Given the description of an element on the screen output the (x, y) to click on. 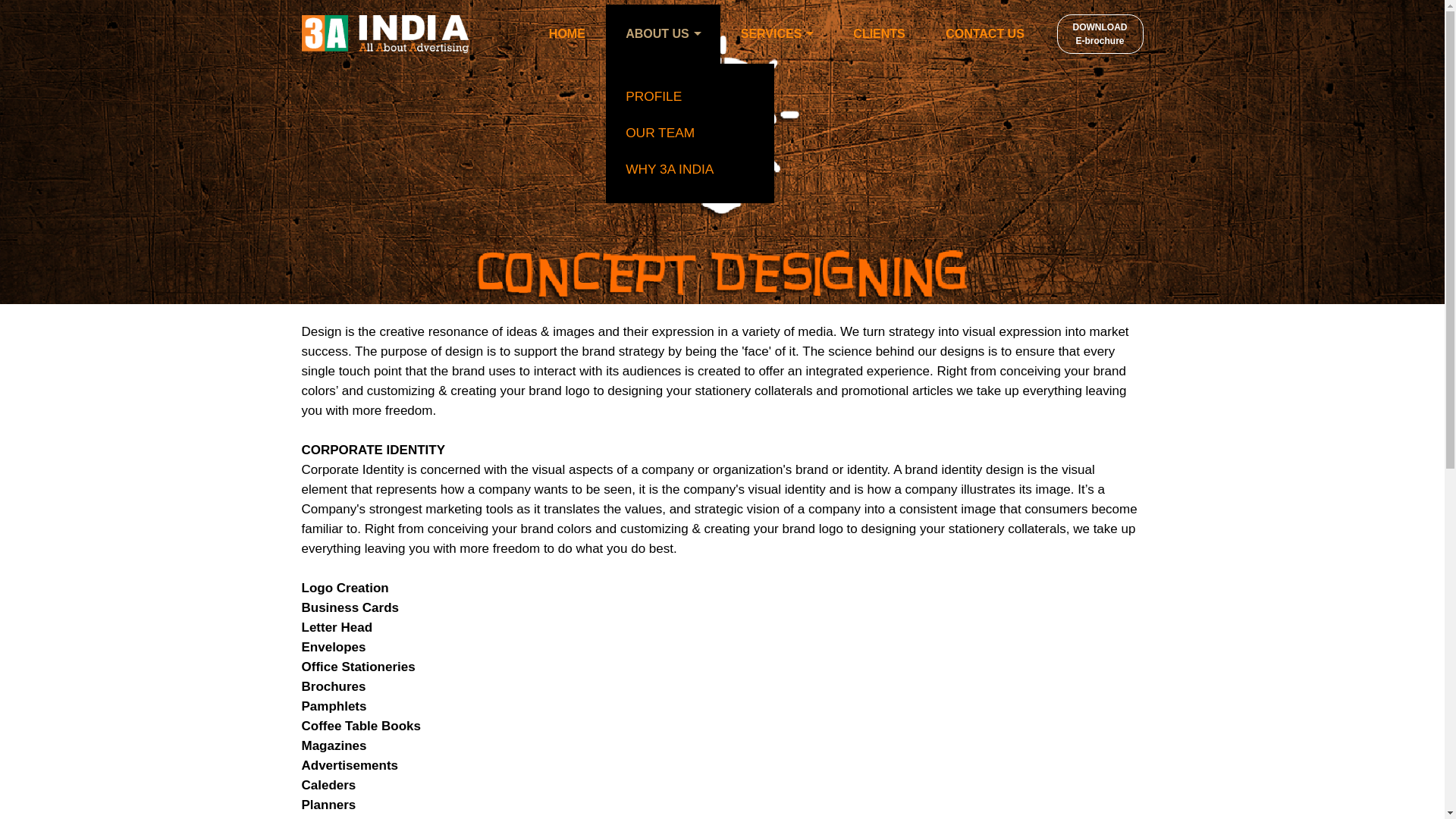
WHY 3A INDIA (689, 169)
HOME (566, 34)
OUR TEAM (689, 133)
CONTACT US (984, 34)
SERVICES (771, 34)
PROFILE (689, 96)
ABOUT US (1099, 34)
CLIENTS (662, 33)
